Given the description of an element on the screen output the (x, y) to click on. 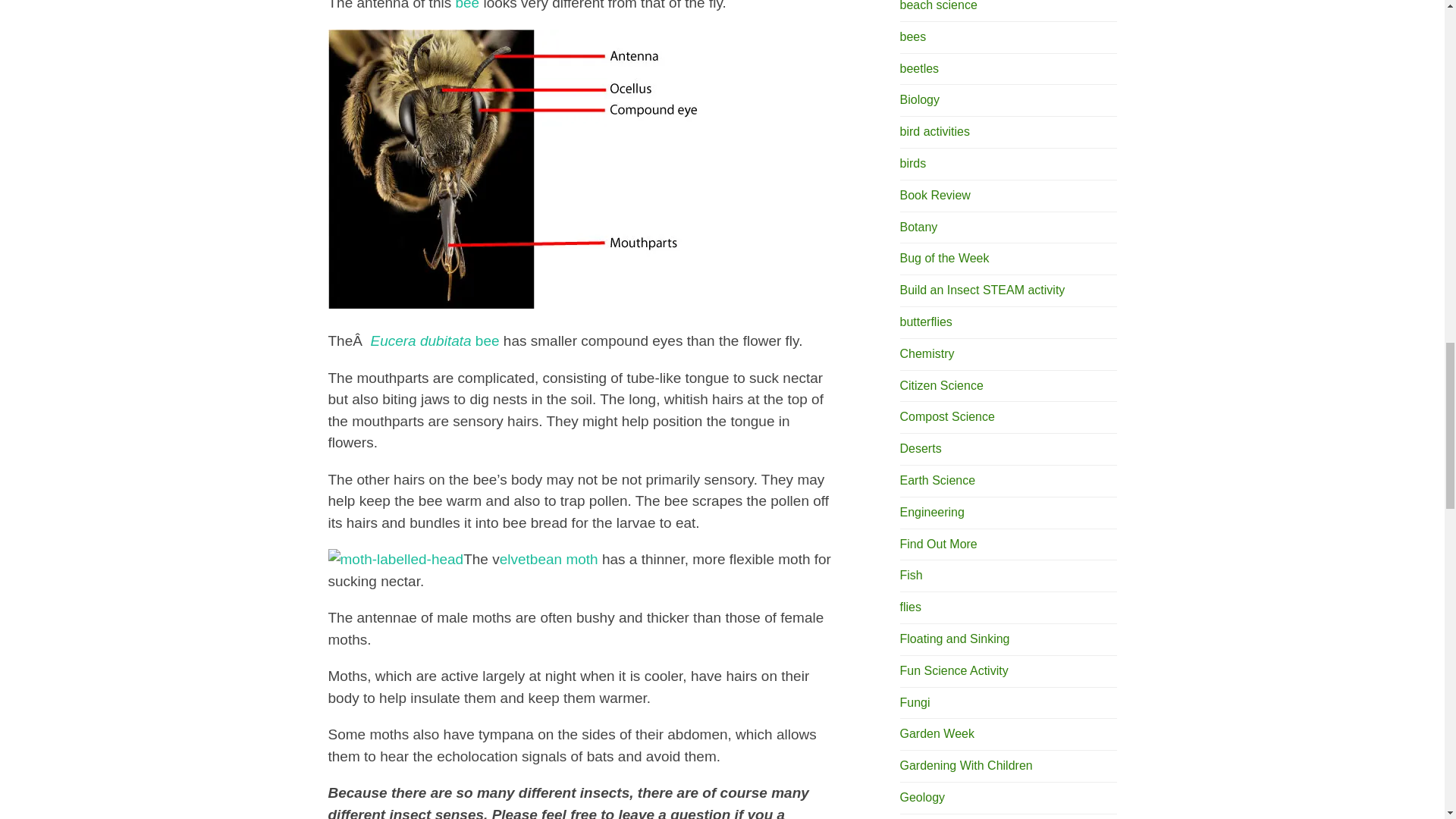
elvetbean moth (548, 559)
Eucera dubitata (419, 340)
bee (466, 5)
bee (485, 340)
